Given the description of an element on the screen output the (x, y) to click on. 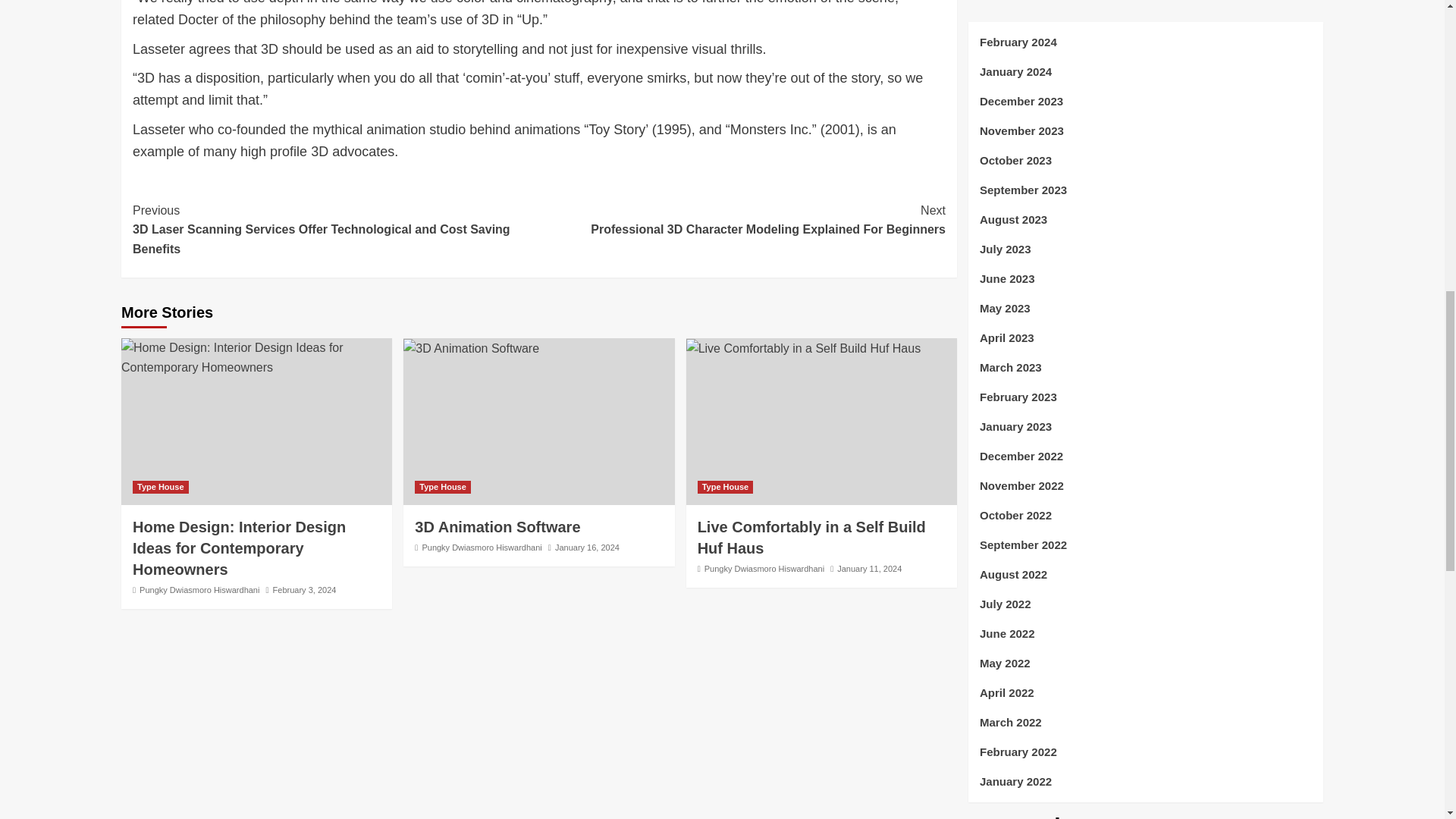
3D Animation Software (470, 348)
Type House (725, 486)
Type House (160, 486)
January 16, 2024 (587, 547)
Pungky Dwiasmoro Hiswardhani (481, 547)
Type House (442, 486)
January 11, 2024 (869, 568)
Live Comfortably in a Self Build Huf Haus (811, 537)
Pungky Dwiasmoro Hiswardhani (199, 589)
3D Animation Software (496, 526)
Pungky Dwiasmoro Hiswardhani (764, 568)
February 3, 2024 (304, 589)
